Given the description of an element on the screen output the (x, y) to click on. 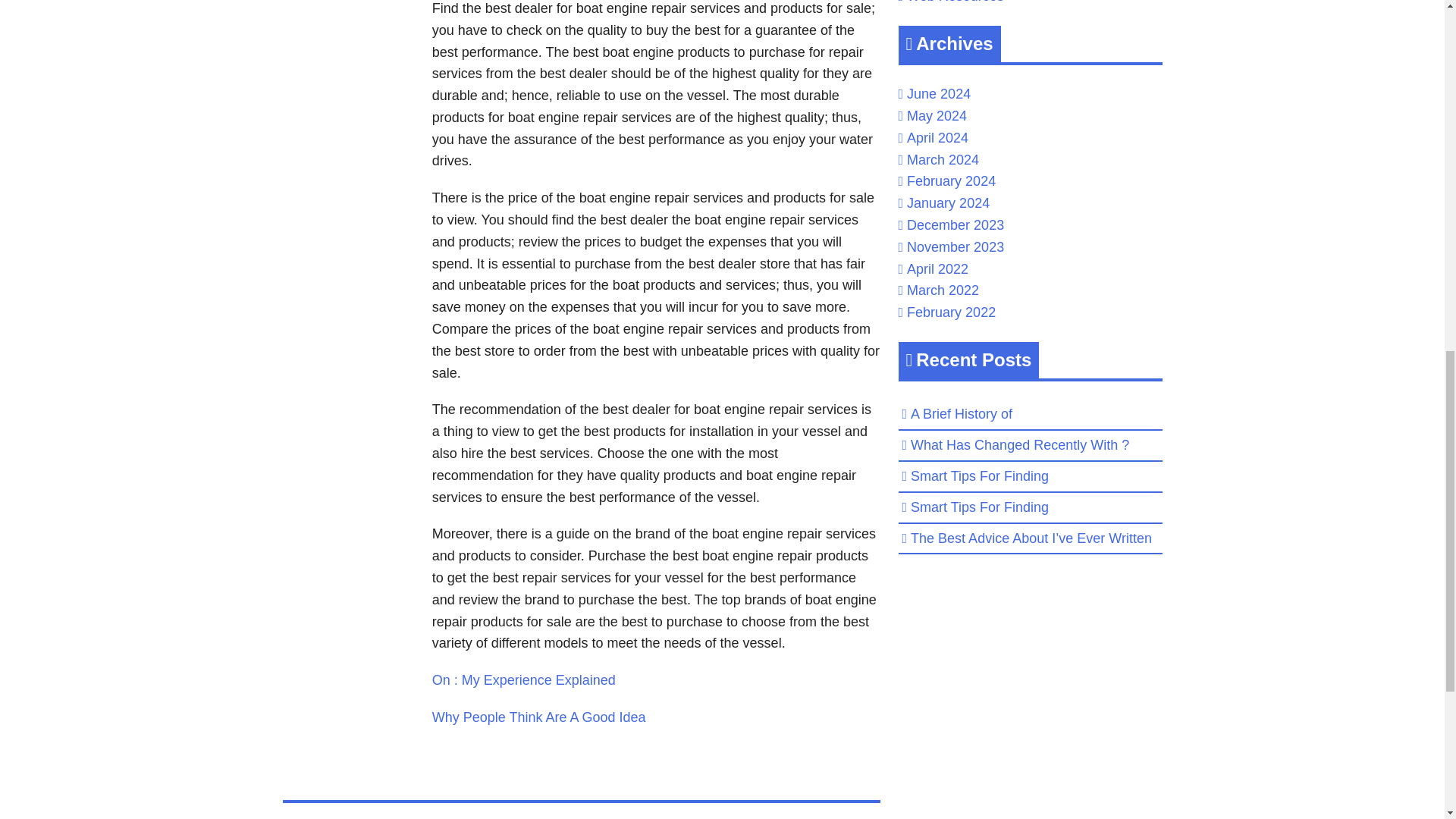
Why People Think Are A Good Idea (539, 717)
On : My Experience Explained (523, 679)
Web Resources (955, 2)
